Given the description of an element on the screen output the (x, y) to click on. 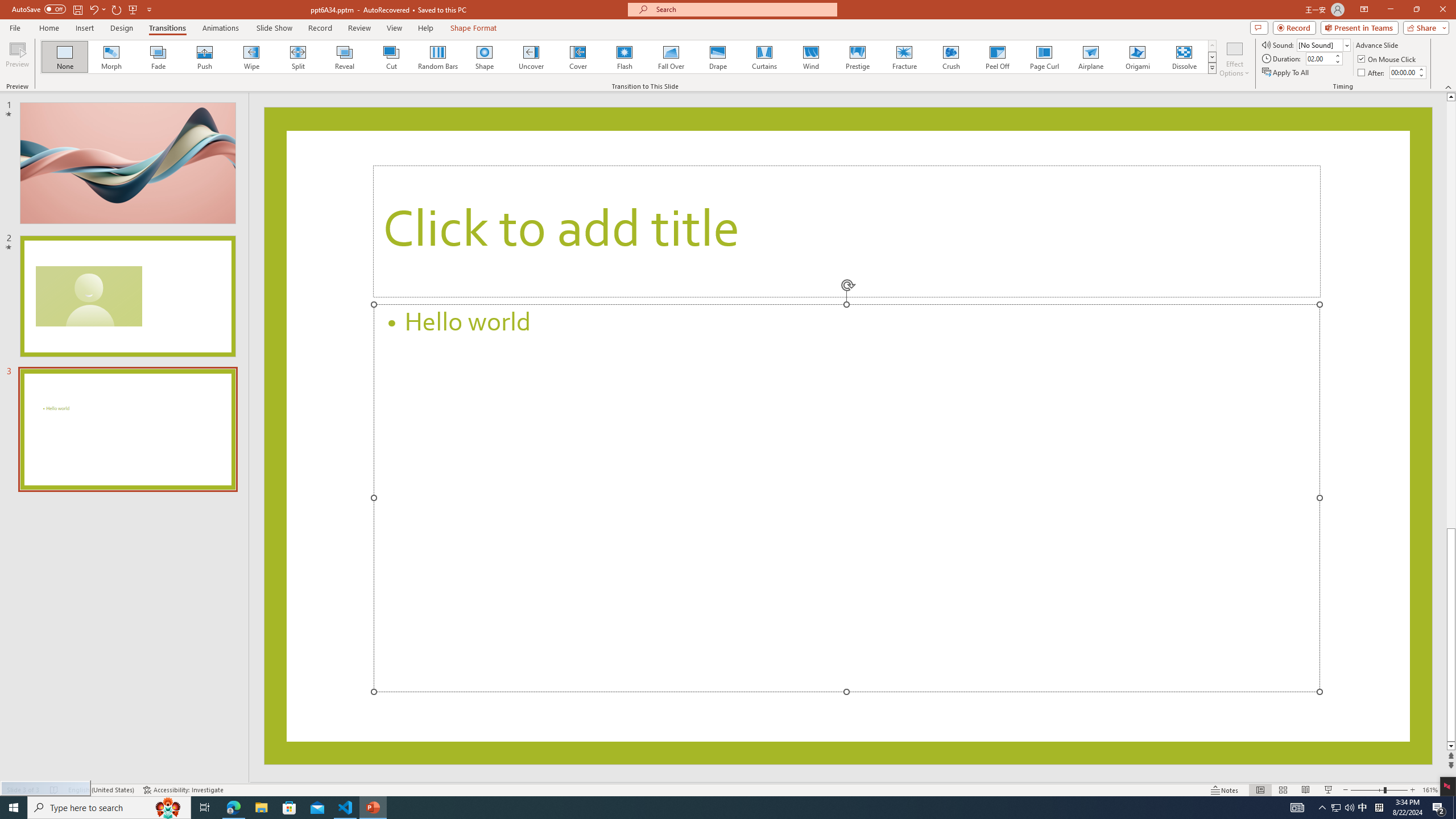
Peel Off (997, 56)
Dissolve (1183, 56)
Drape (717, 56)
After (1372, 72)
Duration (1319, 58)
